Given the description of an element on the screen output the (x, y) to click on. 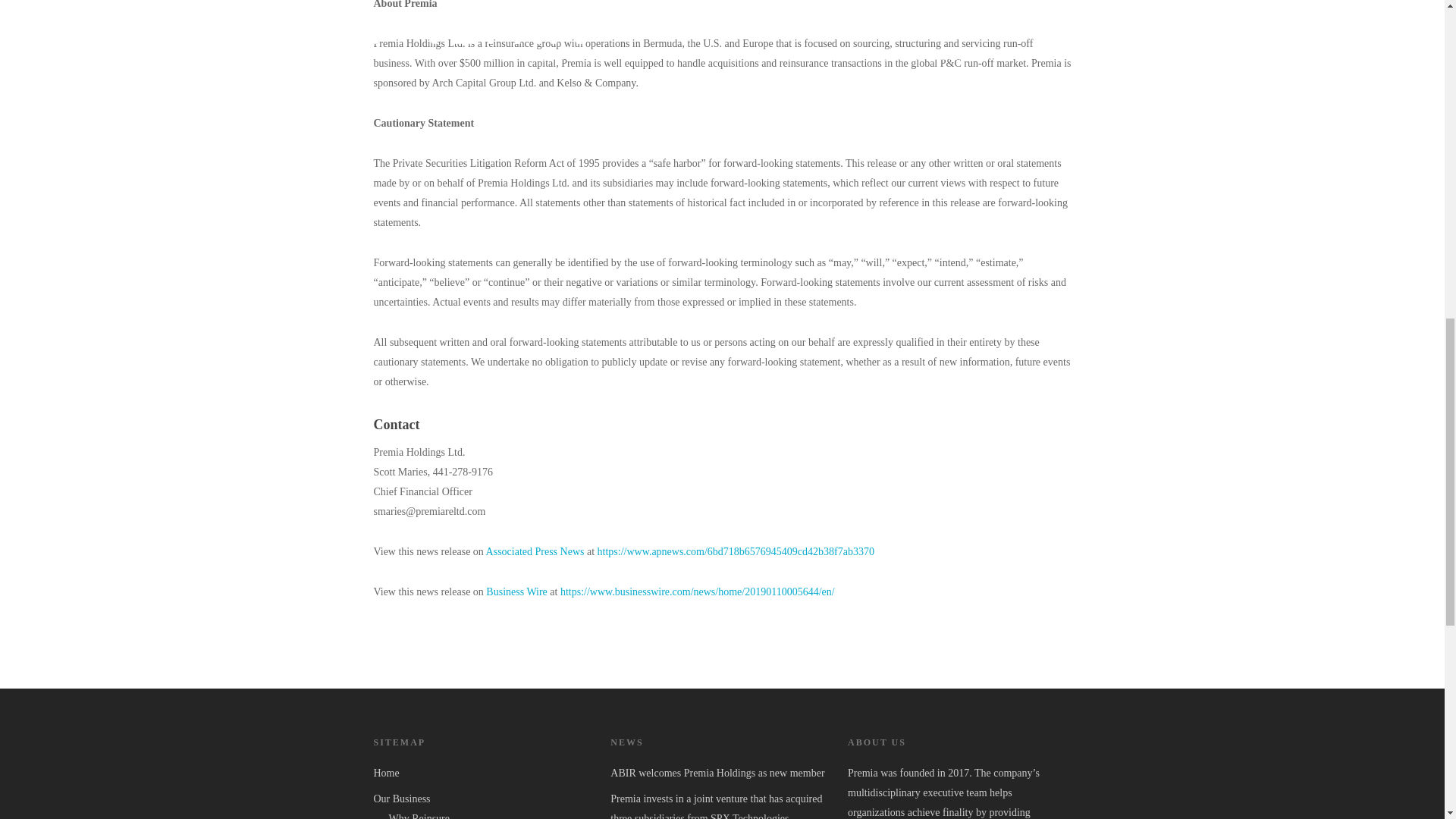
Our Business (483, 799)
ABIR welcomes Premia Holdings as new member (721, 772)
Business Wire (516, 591)
Why Reinsure (491, 814)
Home (483, 772)
Associated Press News (535, 551)
